Given the description of an element on the screen output the (x, y) to click on. 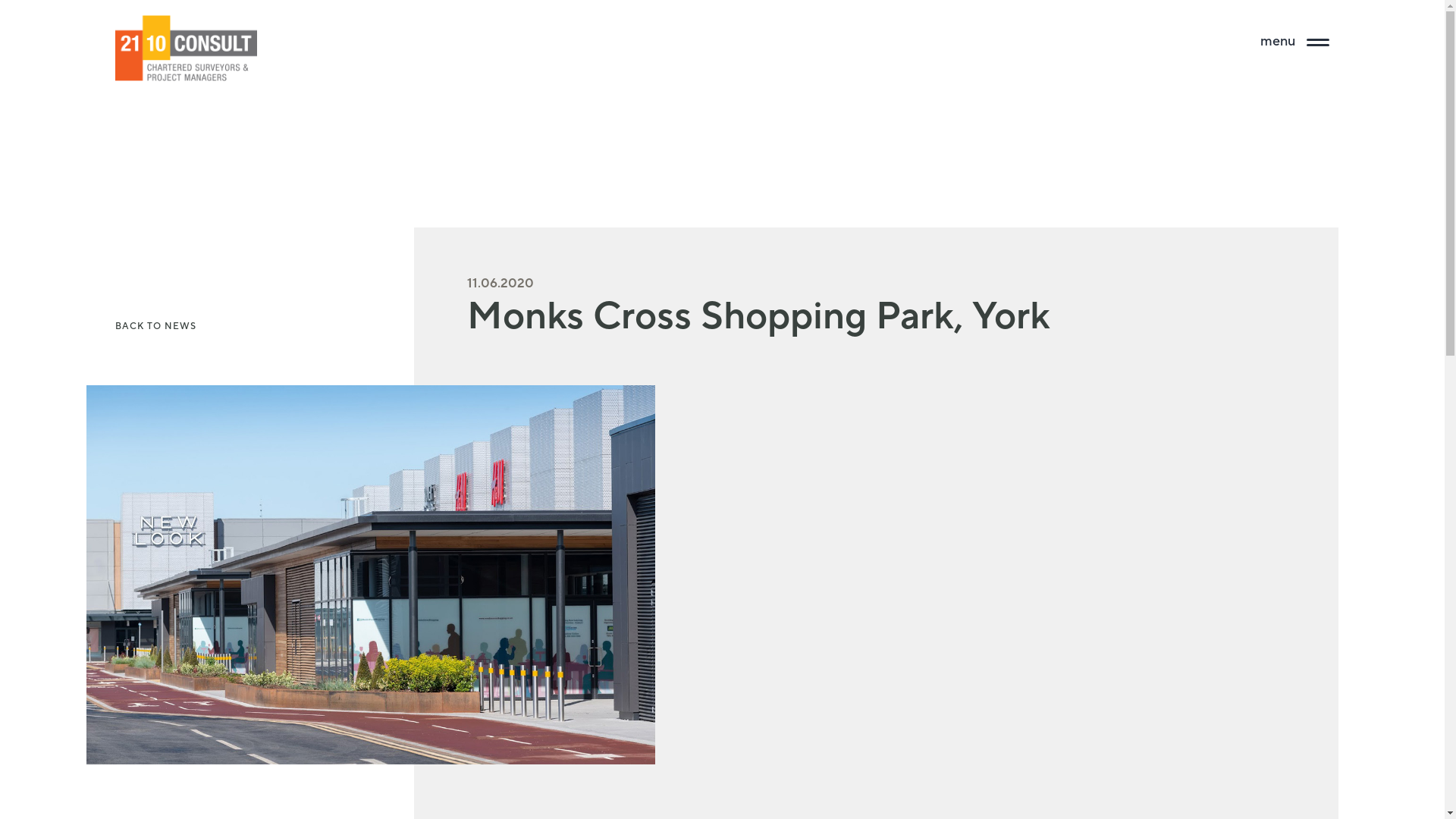
BACK TO NEWS Element type: text (155, 326)
menu Element type: text (1294, 41)
